Given the description of an element on the screen output the (x, y) to click on. 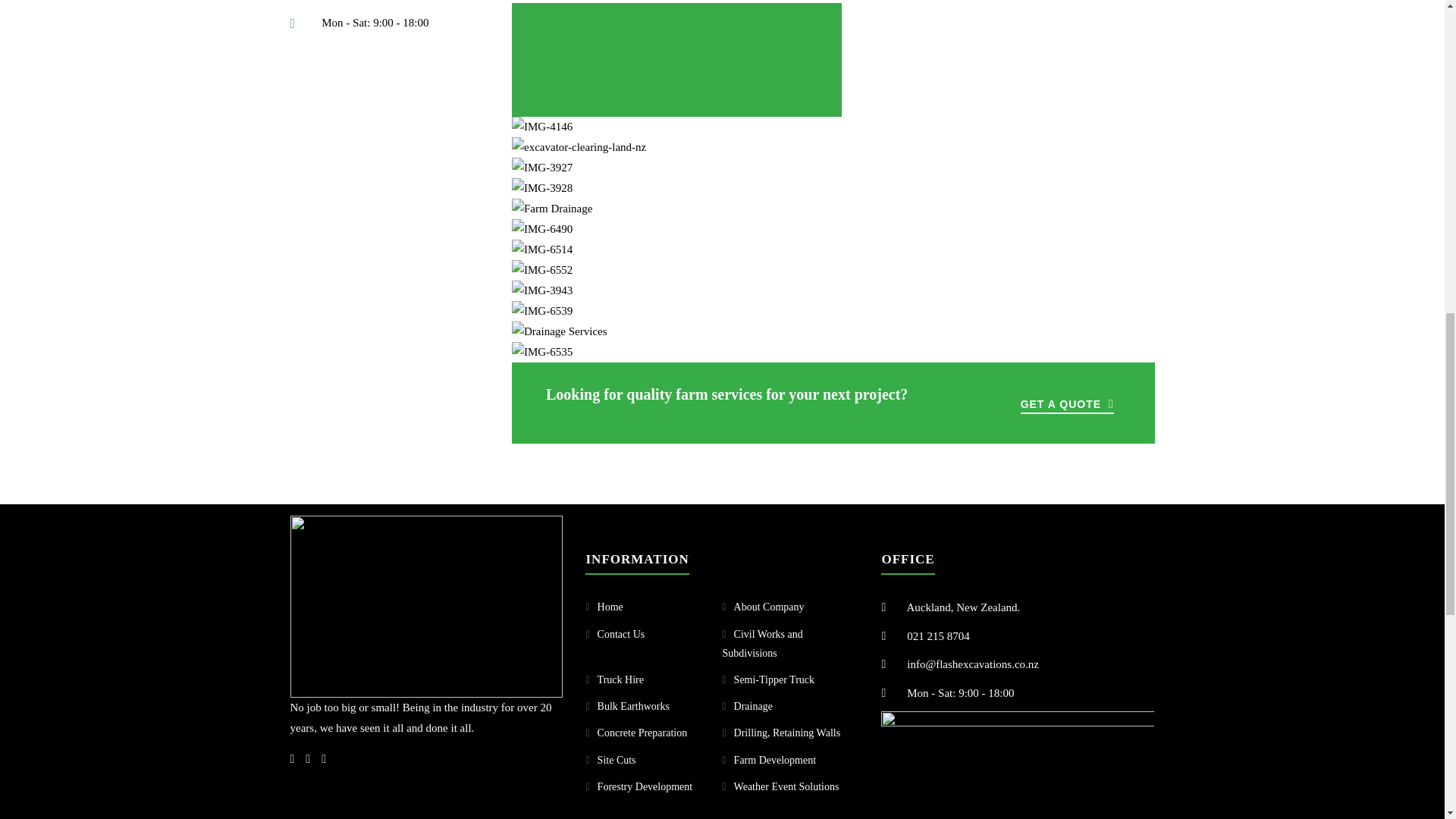
IMG-3927 (542, 168)
IMG-6490 (542, 229)
IMG-6535 (542, 352)
IMG-6514 (542, 249)
IMG-3943 (542, 290)
excavator-clearing-land-nz (579, 147)
IMG-3928 (542, 188)
IMG-6552 (542, 270)
IMG-6539 (542, 311)
GET A QUOTE (1066, 404)
